Given the description of an element on the screen output the (x, y) to click on. 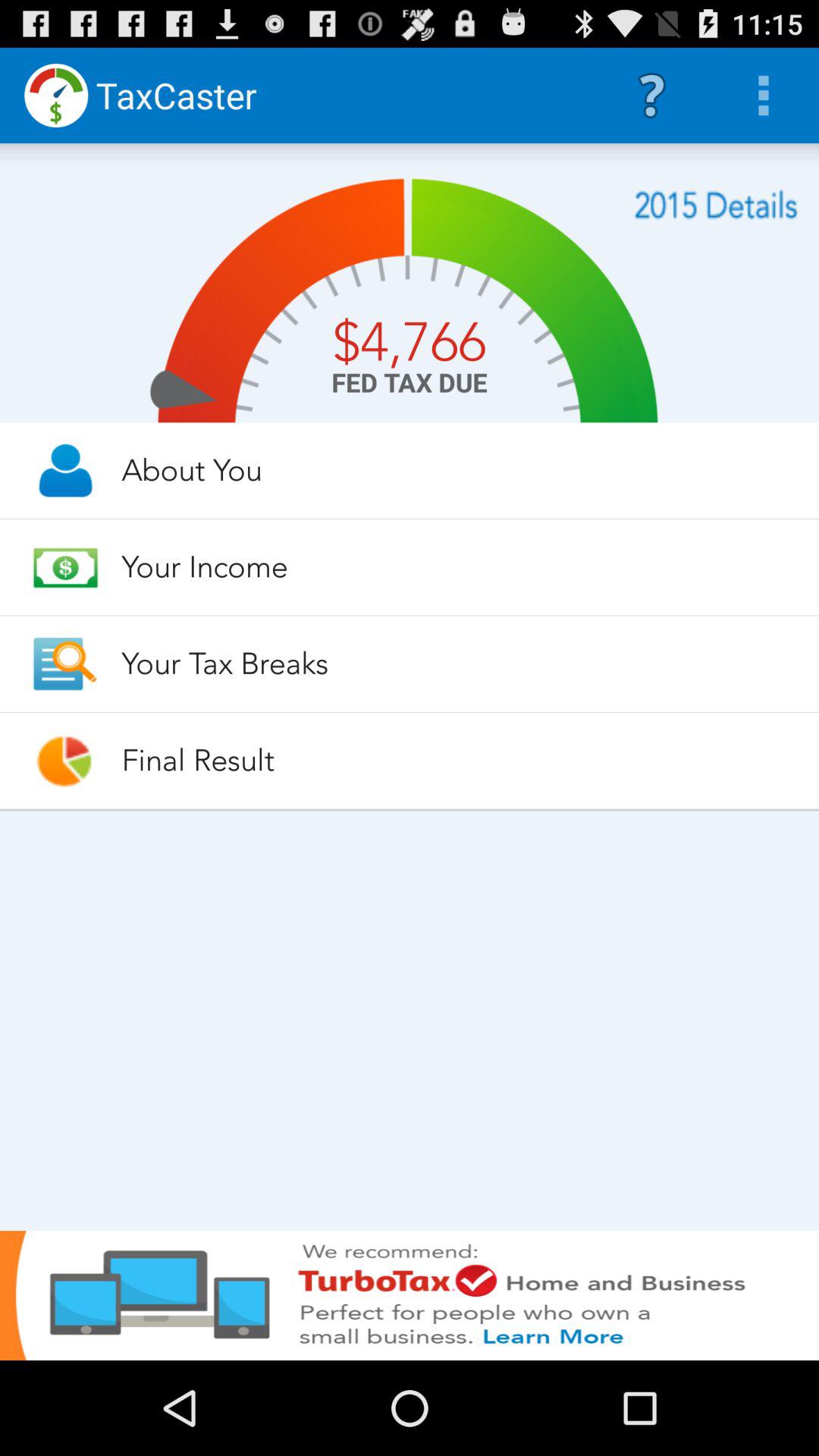
click the icon to the right of the taxcaster icon (651, 95)
